Given the description of an element on the screen output the (x, y) to click on. 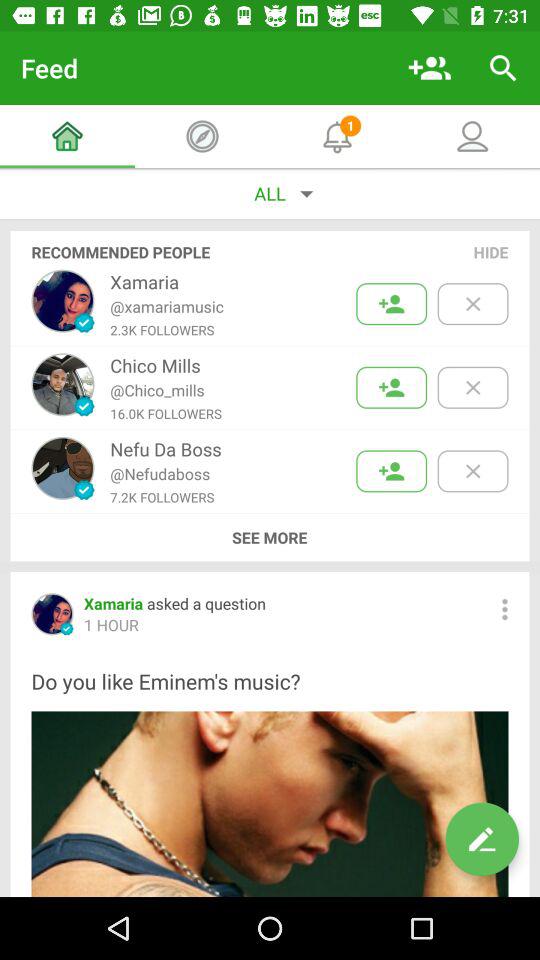
launch the nefu da boss item (165, 448)
